Given the description of an element on the screen output the (x, y) to click on. 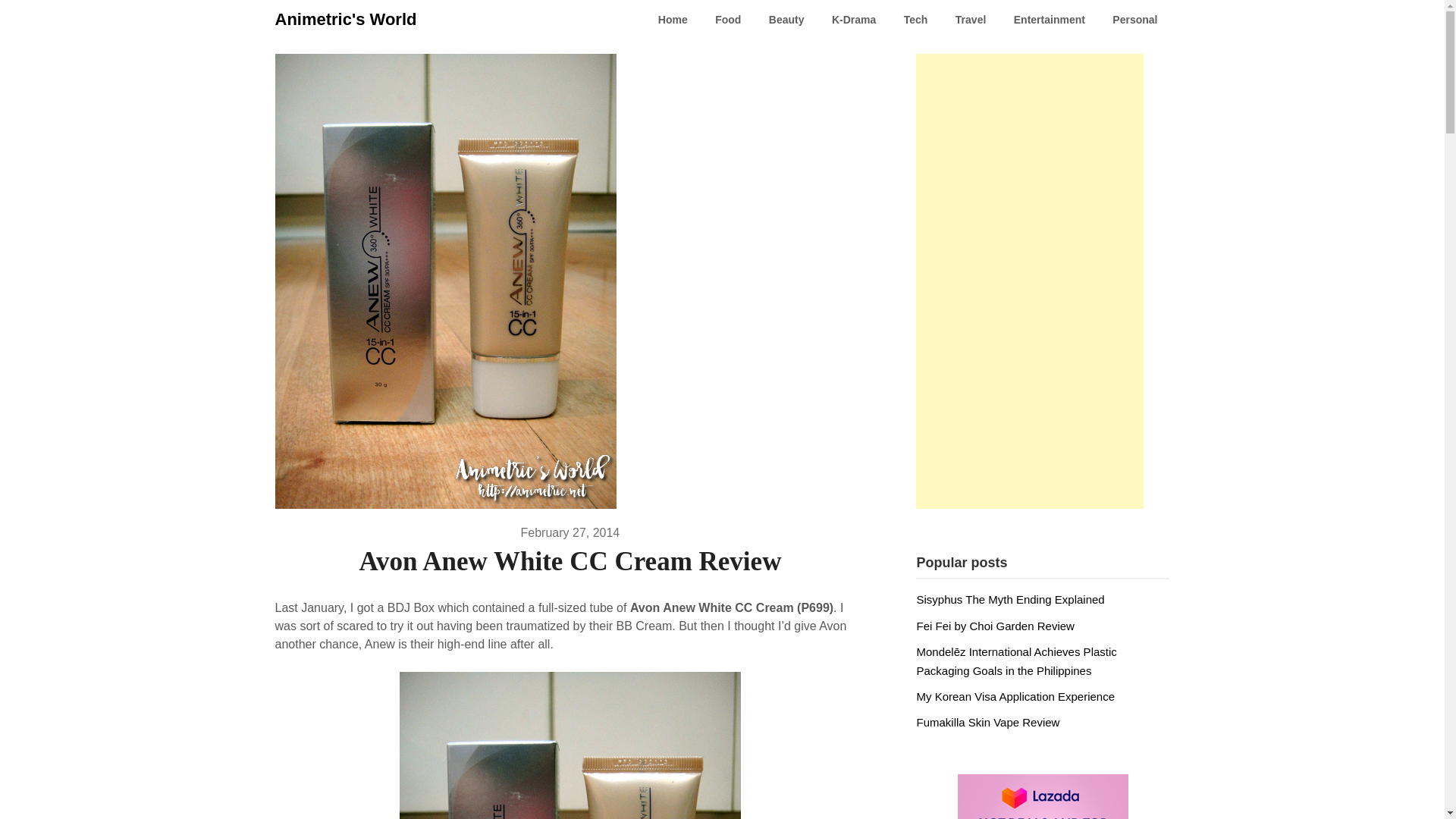
Sisyphus The Myth Ending Explained (1009, 599)
K-Drama (853, 20)
Sisyphus The Myth Ending Explained (1009, 599)
My Korean Visa Application Experience (1015, 696)
February 27, 2014 (570, 532)
Tech (915, 20)
My Korean Visa Application Experience (1015, 696)
Fumakilla Skin Vape Review (987, 721)
Entertainment (1049, 20)
Beauty (786, 20)
Animetric's World (345, 19)
Fei Fei by Choi Garden Review (994, 625)
Food (727, 20)
Personal (1134, 20)
Travel (970, 20)
